Given the description of an element on the screen output the (x, y) to click on. 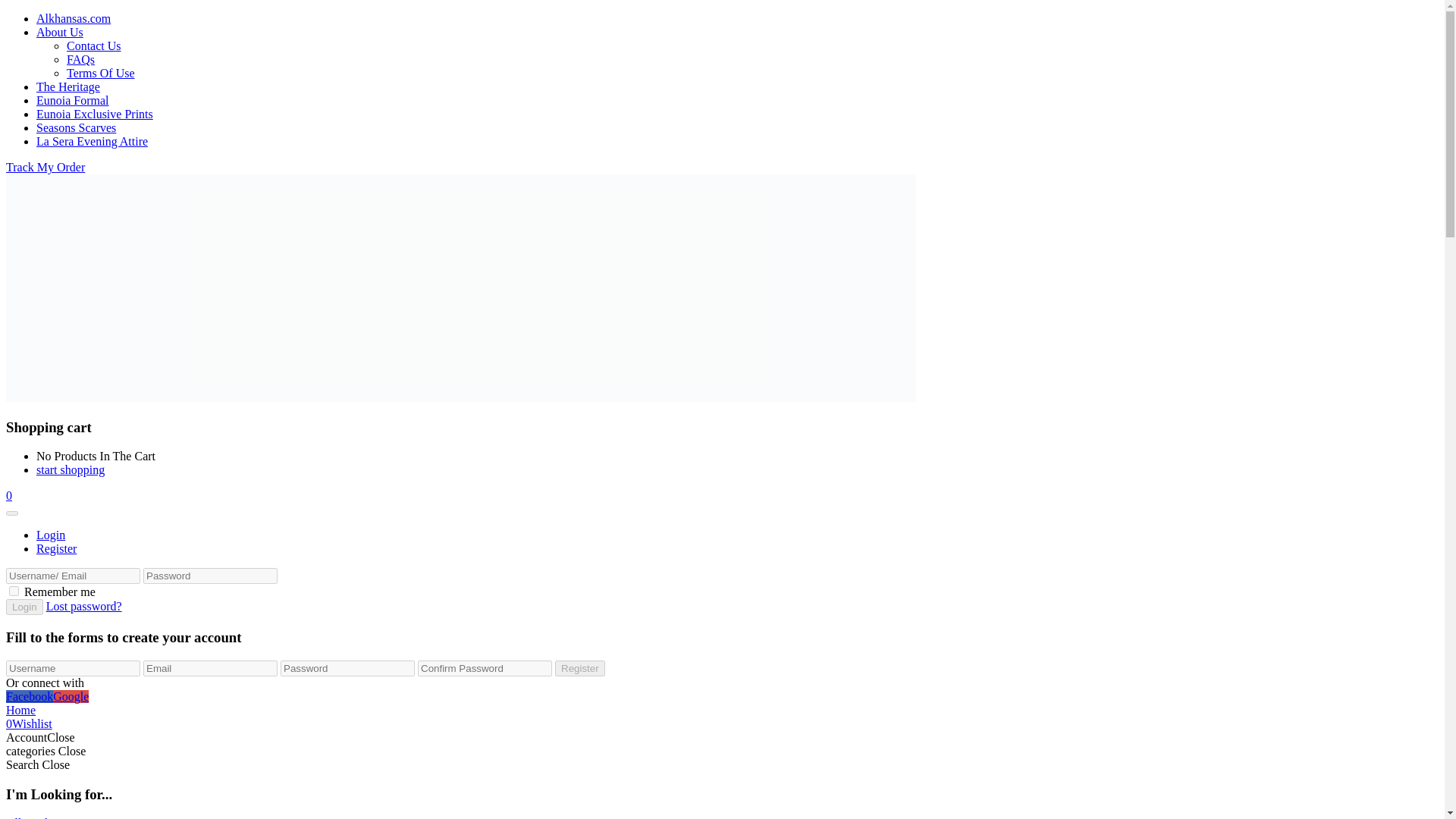
Search Close (37, 764)
Login (24, 606)
Track My Order (44, 166)
Register (56, 548)
Terms Of Use (100, 72)
Register (579, 668)
Alkhansas.com (73, 18)
forever (13, 591)
About Us (59, 31)
Seasons Scarves (76, 127)
